Given the description of an element on the screen output the (x, y) to click on. 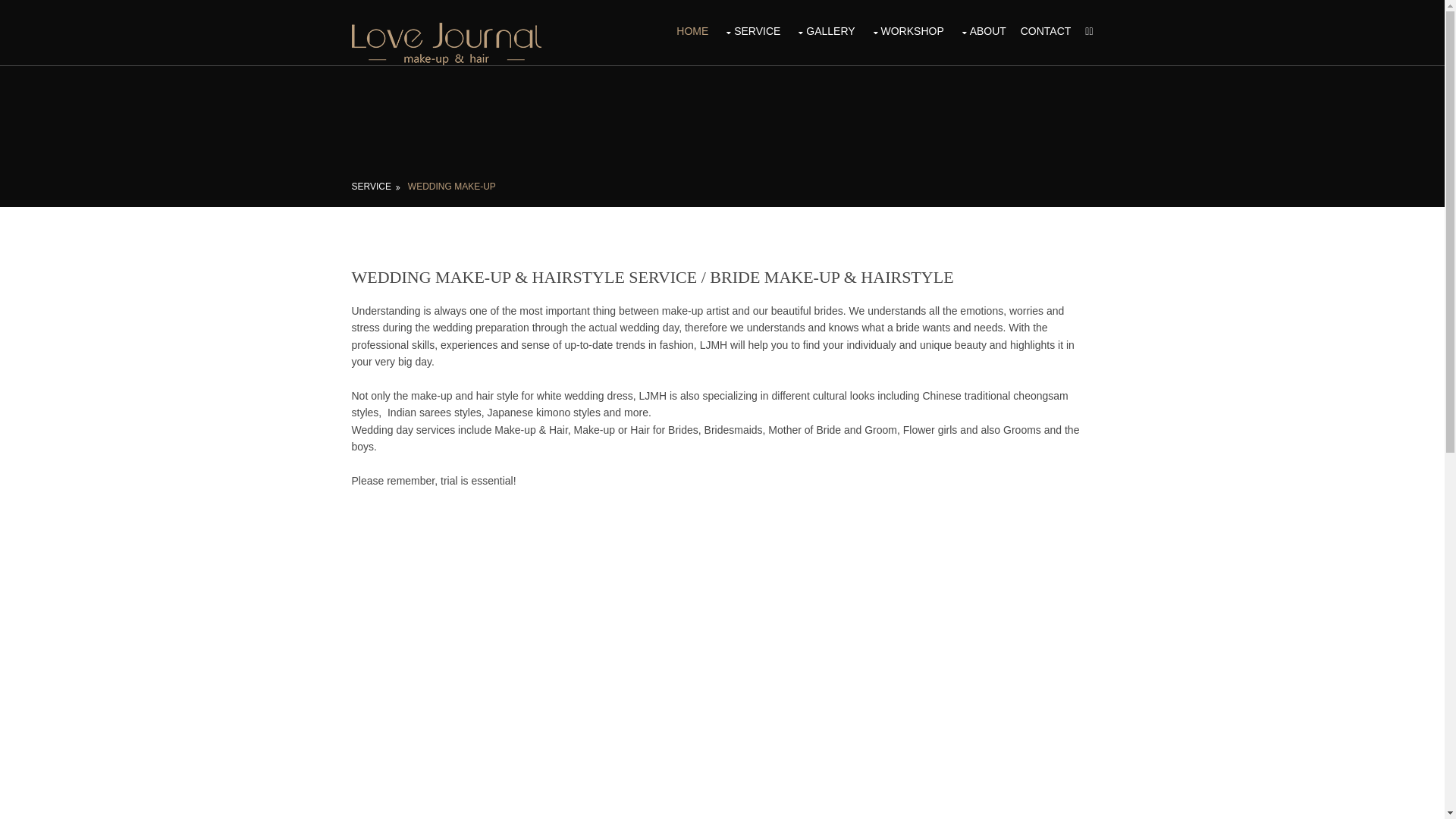
WORKSHOP Element type: text (906, 30)
SERVICE Element type: text (375, 186)
ABOUT Element type: text (982, 30)
CONTACT Element type: text (1045, 30)
SERVICE Element type: text (751, 30)
WEDDING MAKE-UP Element type: text (451, 186)
HOME Element type: text (692, 30)
GALLERY Element type: text (824, 30)
